Given the description of an element on the screen output the (x, y) to click on. 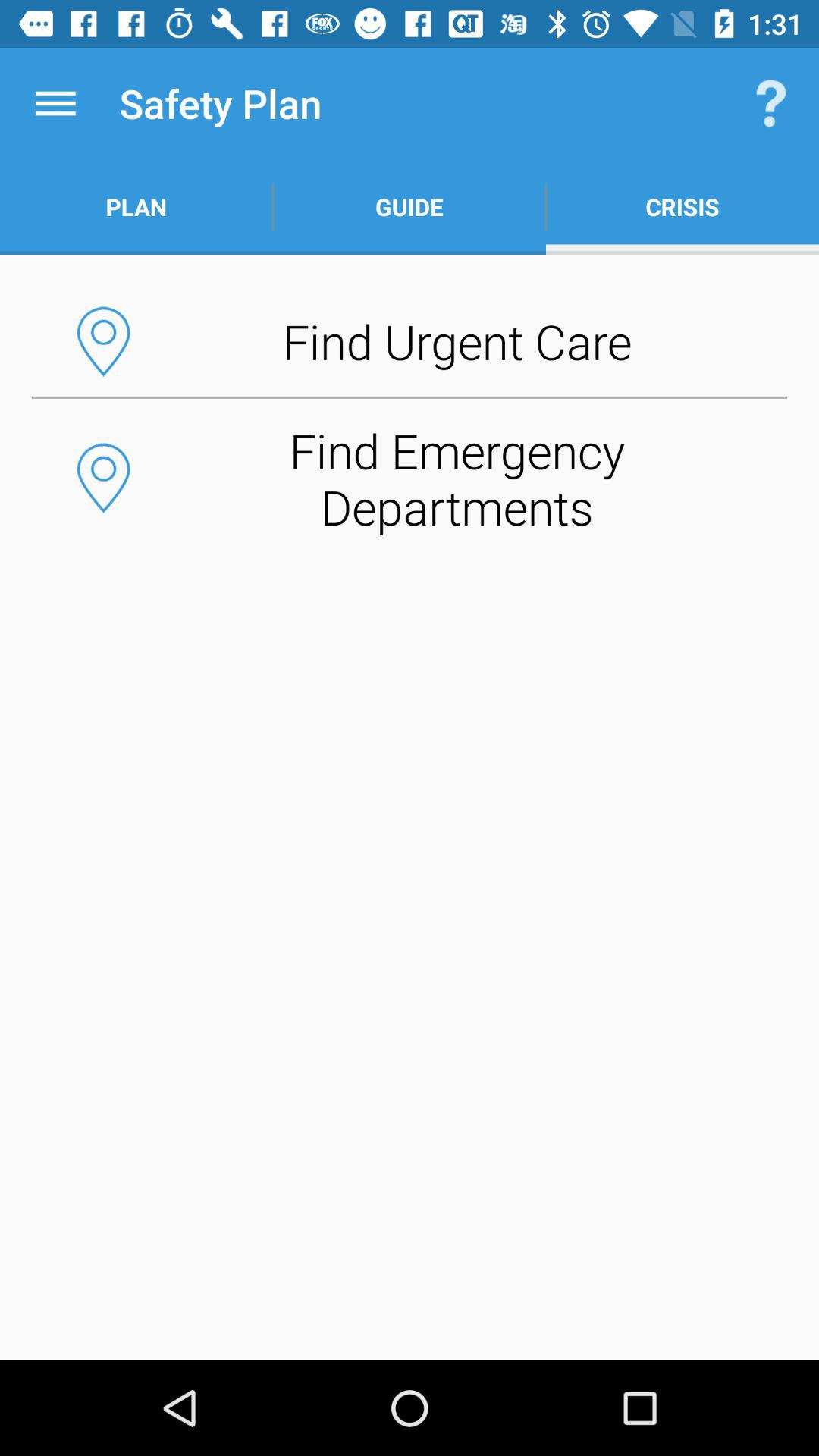
launch app next to the crisis icon (409, 206)
